Given the description of an element on the screen output the (x, y) to click on. 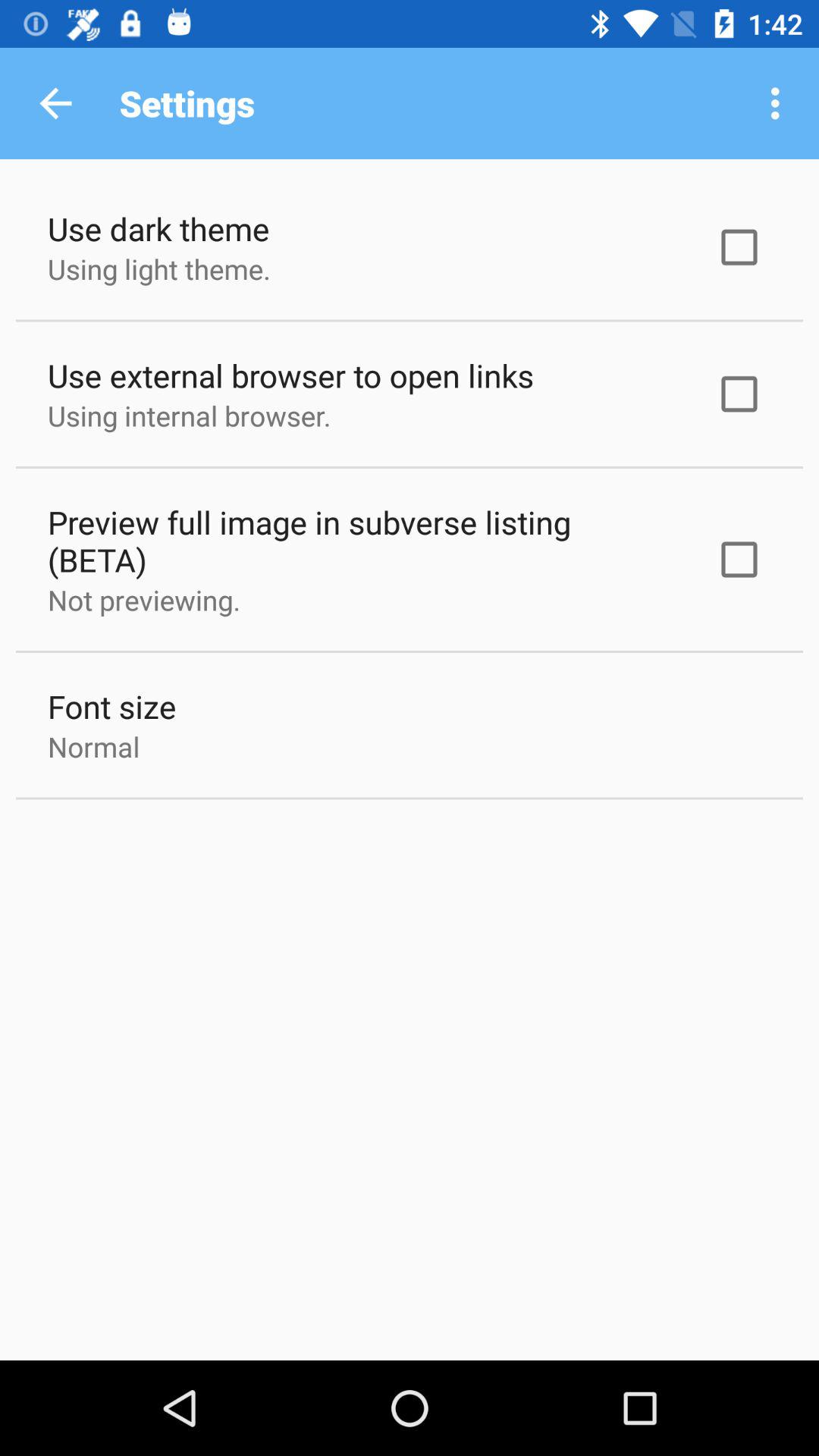
tap the item at the center (361, 540)
